Given the description of an element on the screen output the (x, y) to click on. 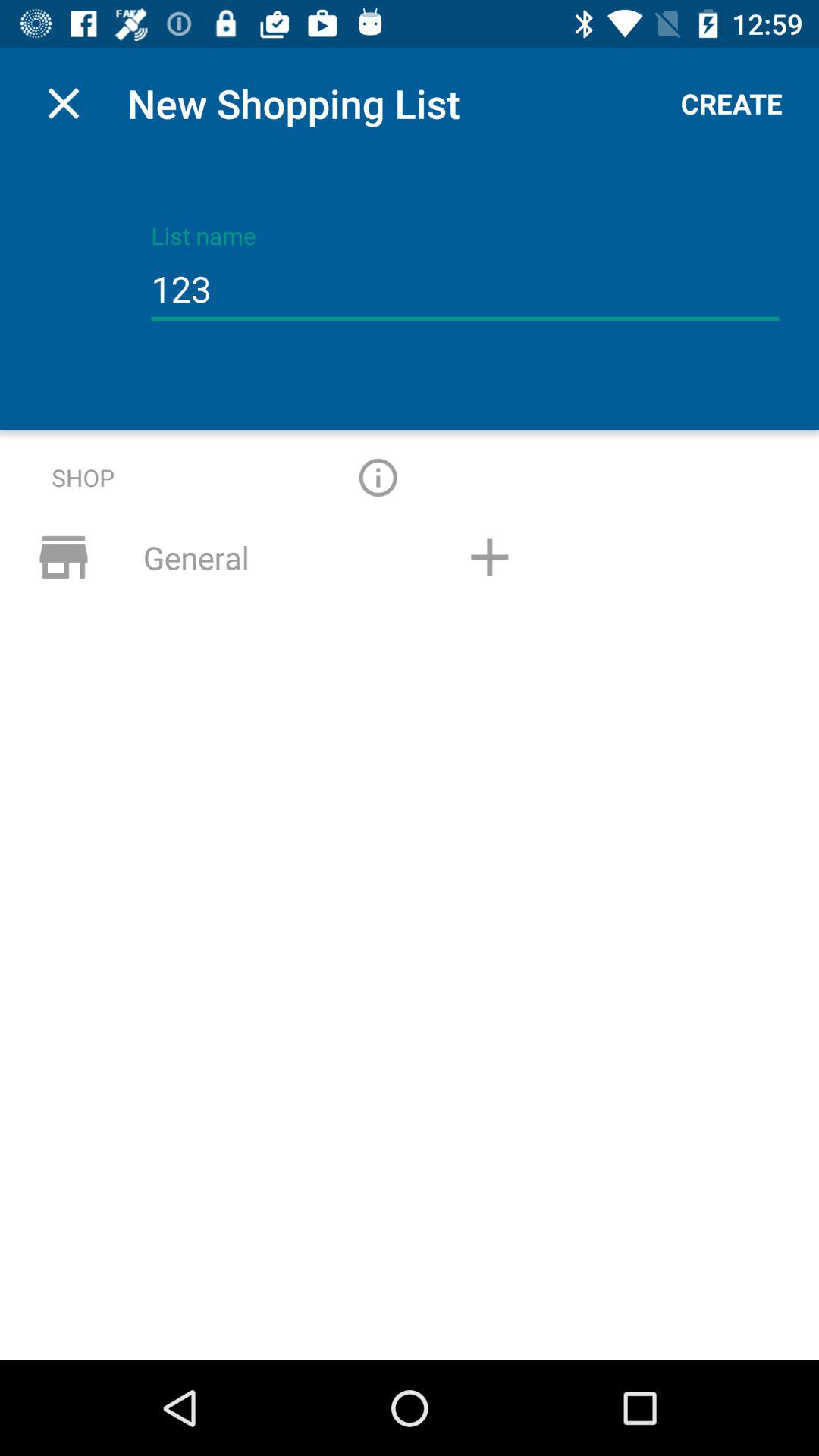
give more information (377, 477)
